Given the description of an element on the screen output the (x, y) to click on. 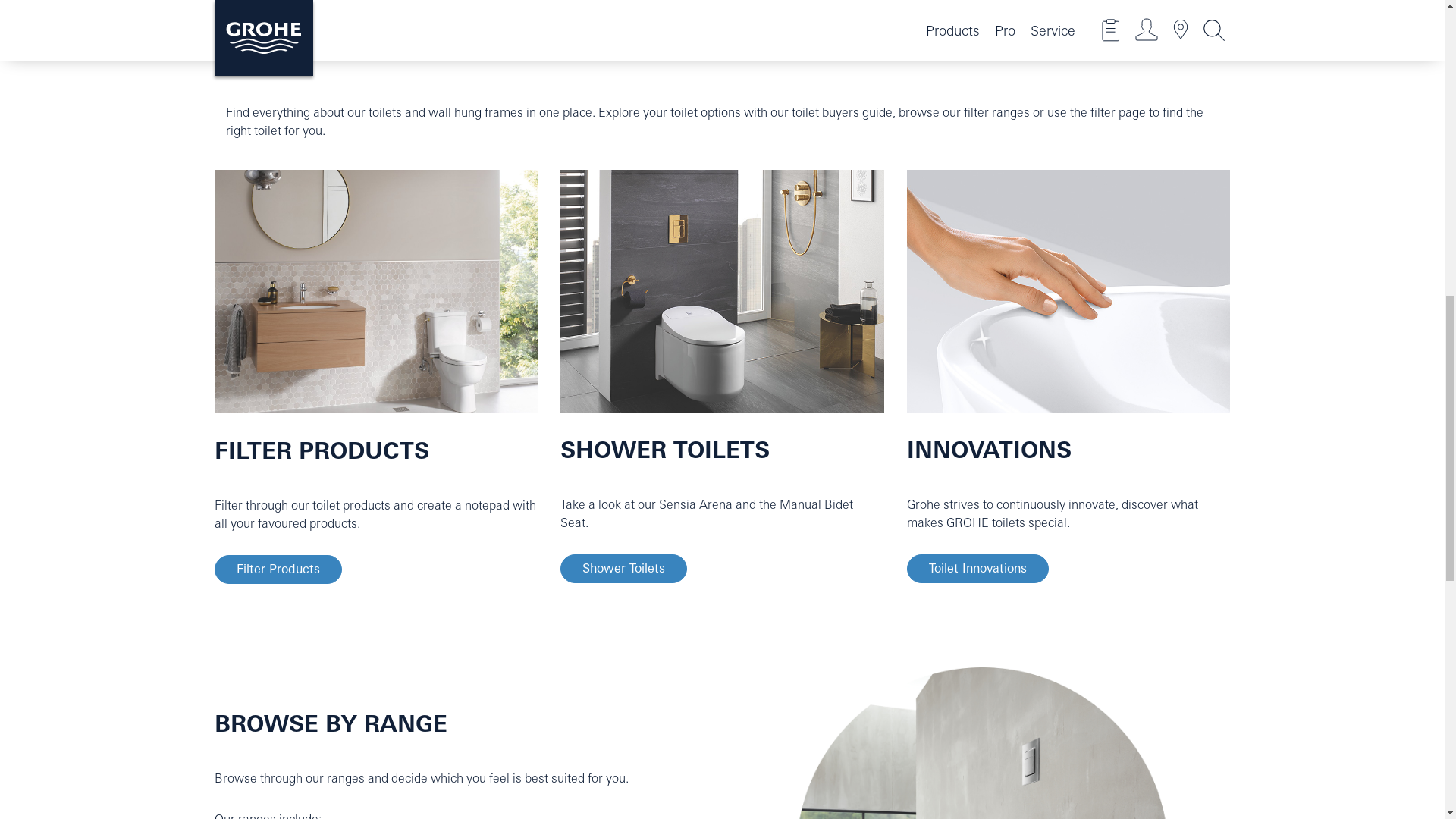
Shower Toilets (623, 568)
Fliter Products (277, 569)
Toilet Innovations (977, 568)
